Given the description of an element on the screen output the (x, y) to click on. 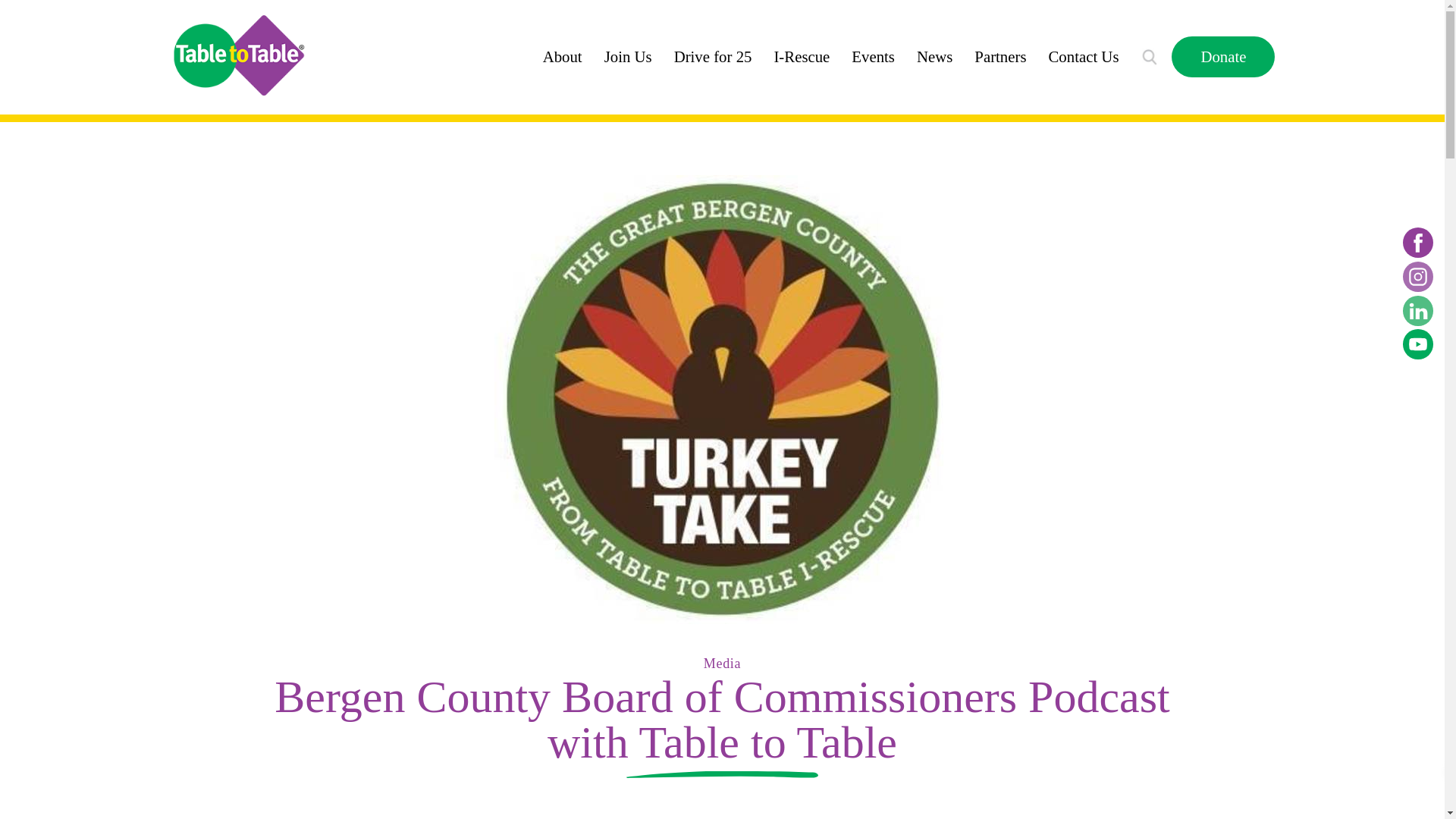
LinkedIN (1417, 310)
Media (722, 663)
Table to Table (238, 55)
Instagram (1417, 276)
Youtube (1417, 344)
Facebook (1417, 242)
About (562, 56)
